Given the description of an element on the screen output the (x, y) to click on. 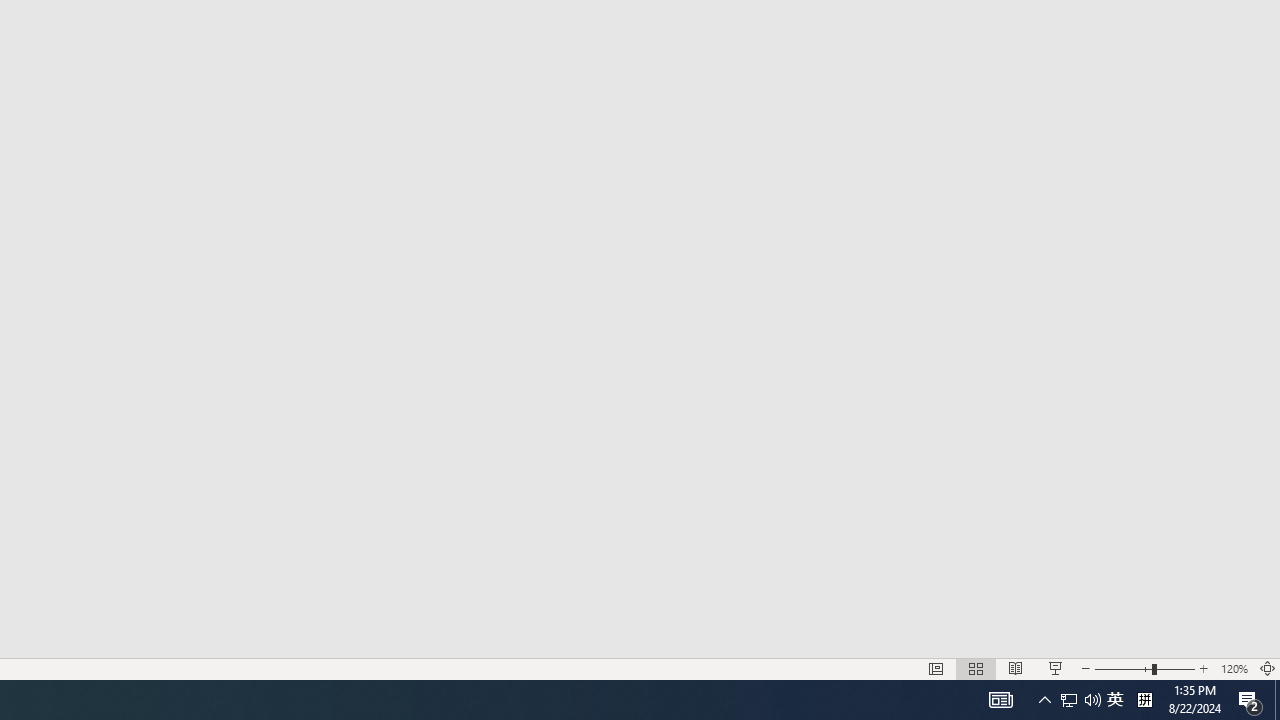
Zoom 120% (1234, 668)
